Given the description of an element on the screen output the (x, y) to click on. 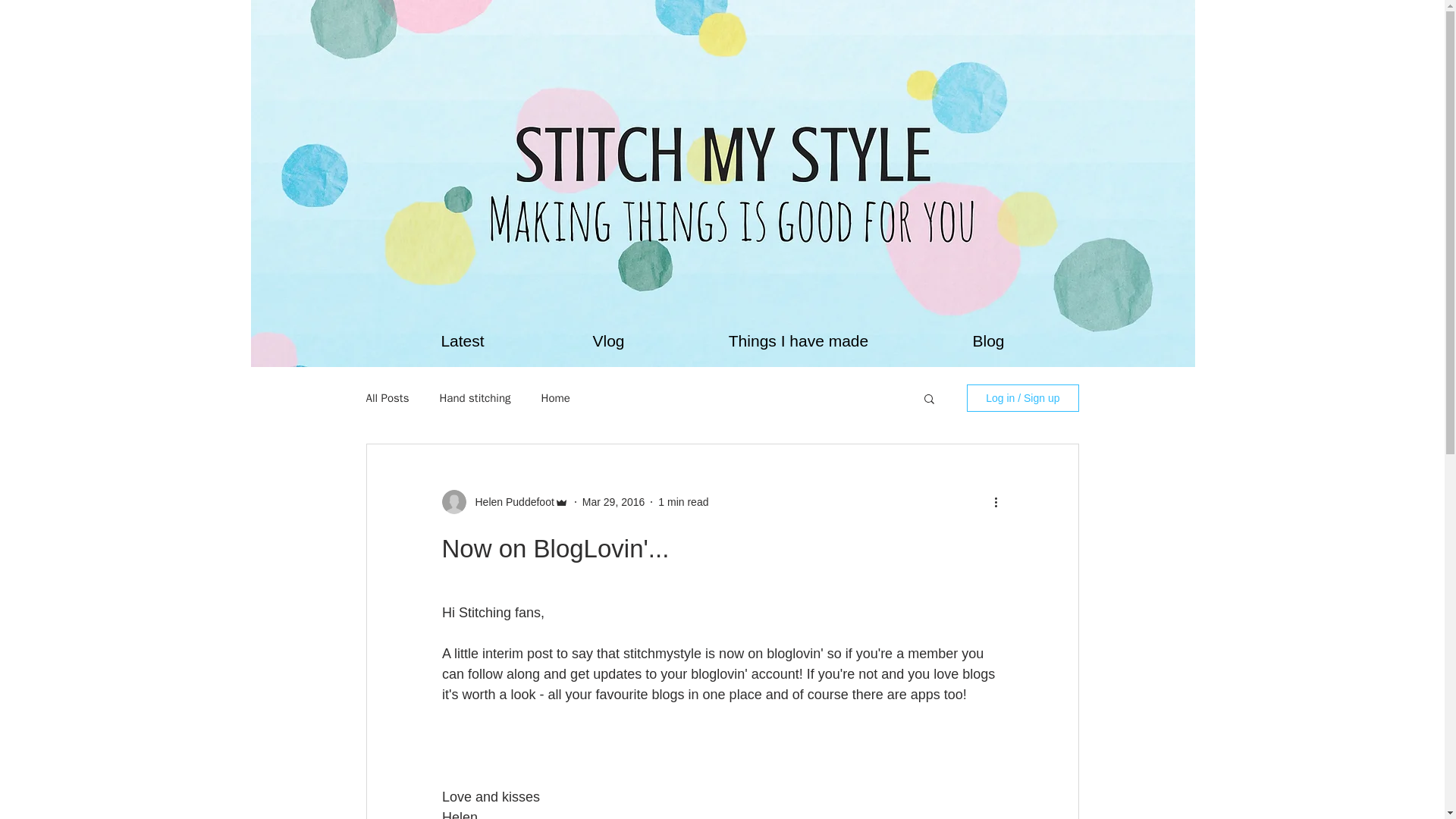
Vlog (608, 340)
Latest (462, 340)
All Posts (387, 398)
Blog (988, 340)
Home (555, 398)
Things I have made (798, 340)
Helen Puddefoot (509, 502)
1 min read (682, 501)
Hand stitching (475, 398)
Mar 29, 2016 (613, 501)
